Given the description of an element on the screen output the (x, y) to click on. 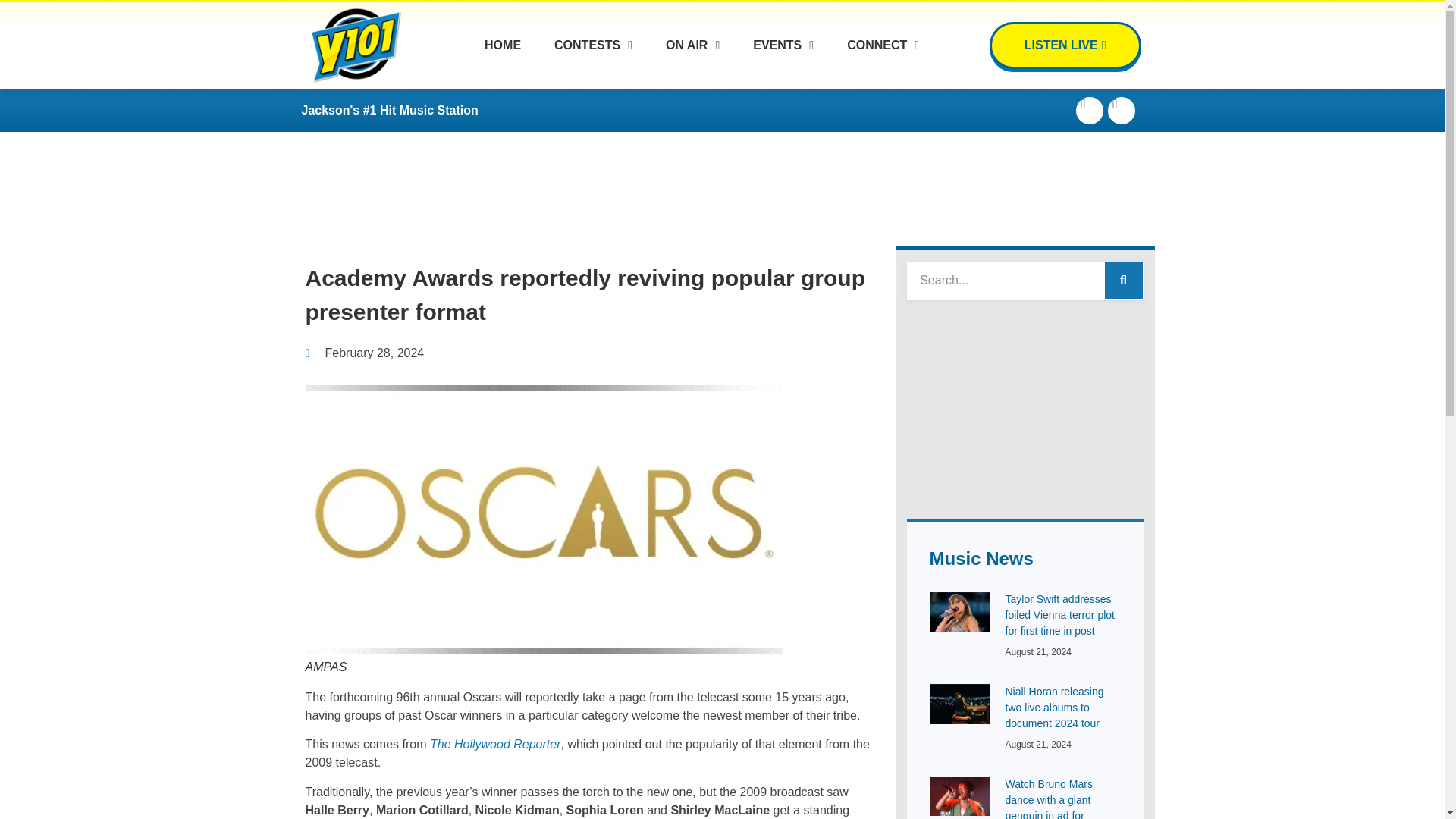
HOME (502, 75)
CONNECT (882, 53)
LISTEN LIVE (1065, 45)
ON AIR (692, 63)
CONTESTS (593, 73)
EVENTS (783, 54)
